Given the description of an element on the screen output the (x, y) to click on. 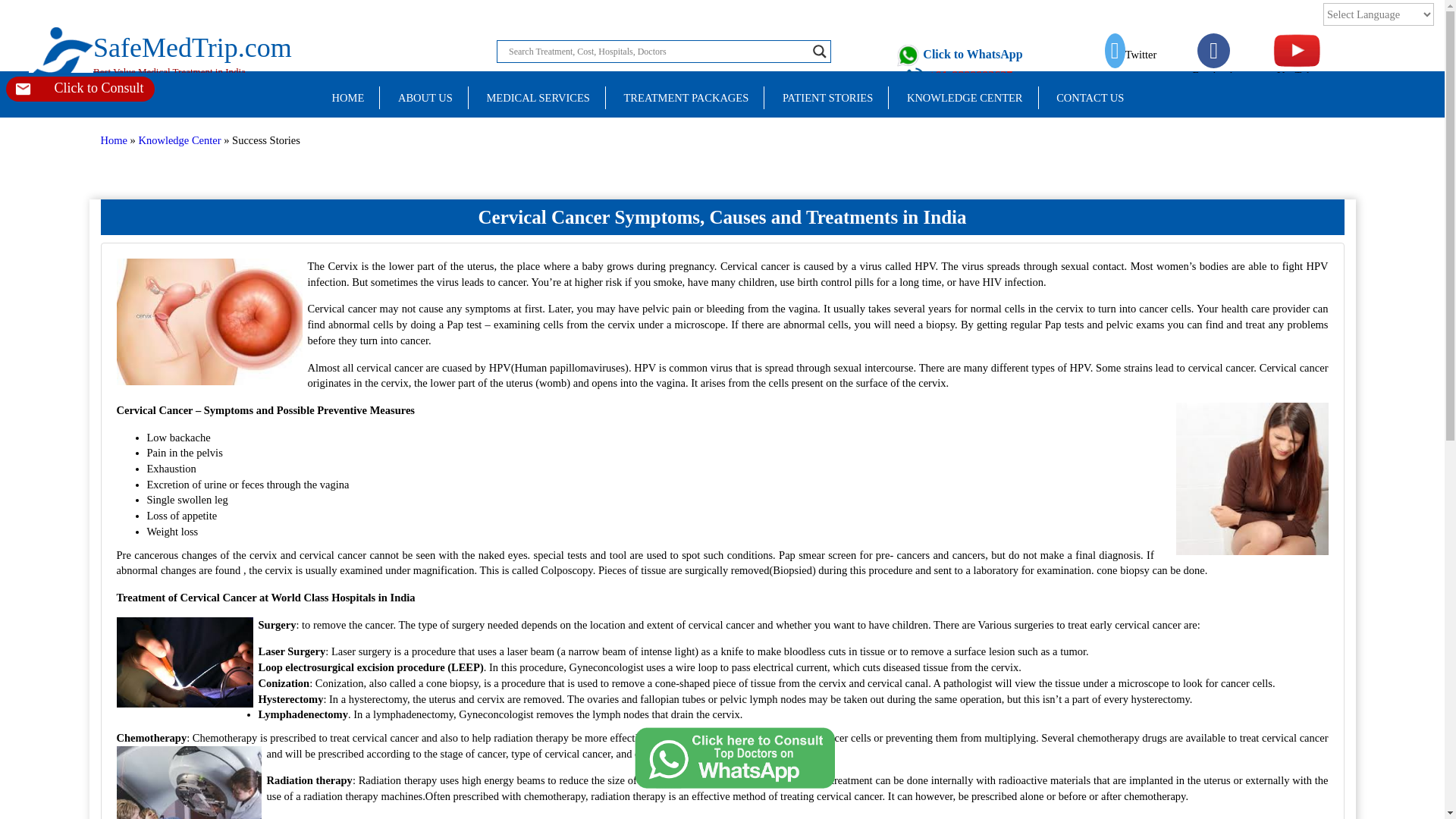
Medical Services (537, 97)
MEDICAL SERVICES (160, 36)
KNOWLEDGE CENTER (537, 97)
HOME (964, 97)
Knowledge Center (347, 97)
ss (964, 97)
Contact Us (1248, 478)
ABOUT US (1090, 97)
PATIENT STORIES (425, 97)
Click to Consult (827, 97)
Home (79, 88)
Click to WhatsApp (113, 140)
cancer (959, 55)
Treatment Packages (211, 321)
